Given the description of an element on the screen output the (x, y) to click on. 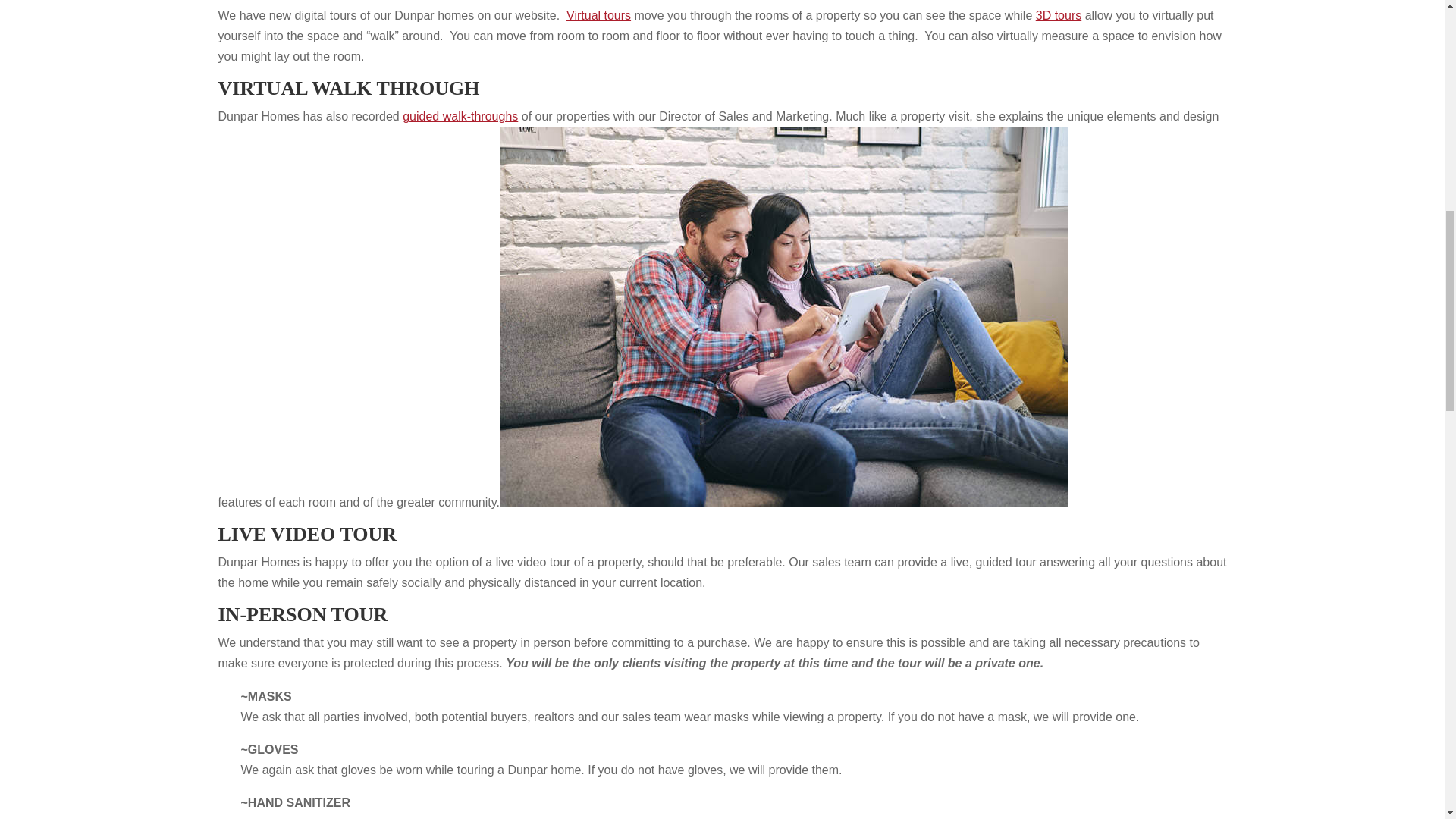
3D tours (1058, 15)
Virtual tours (598, 15)
